Given the description of an element on the screen output the (x, y) to click on. 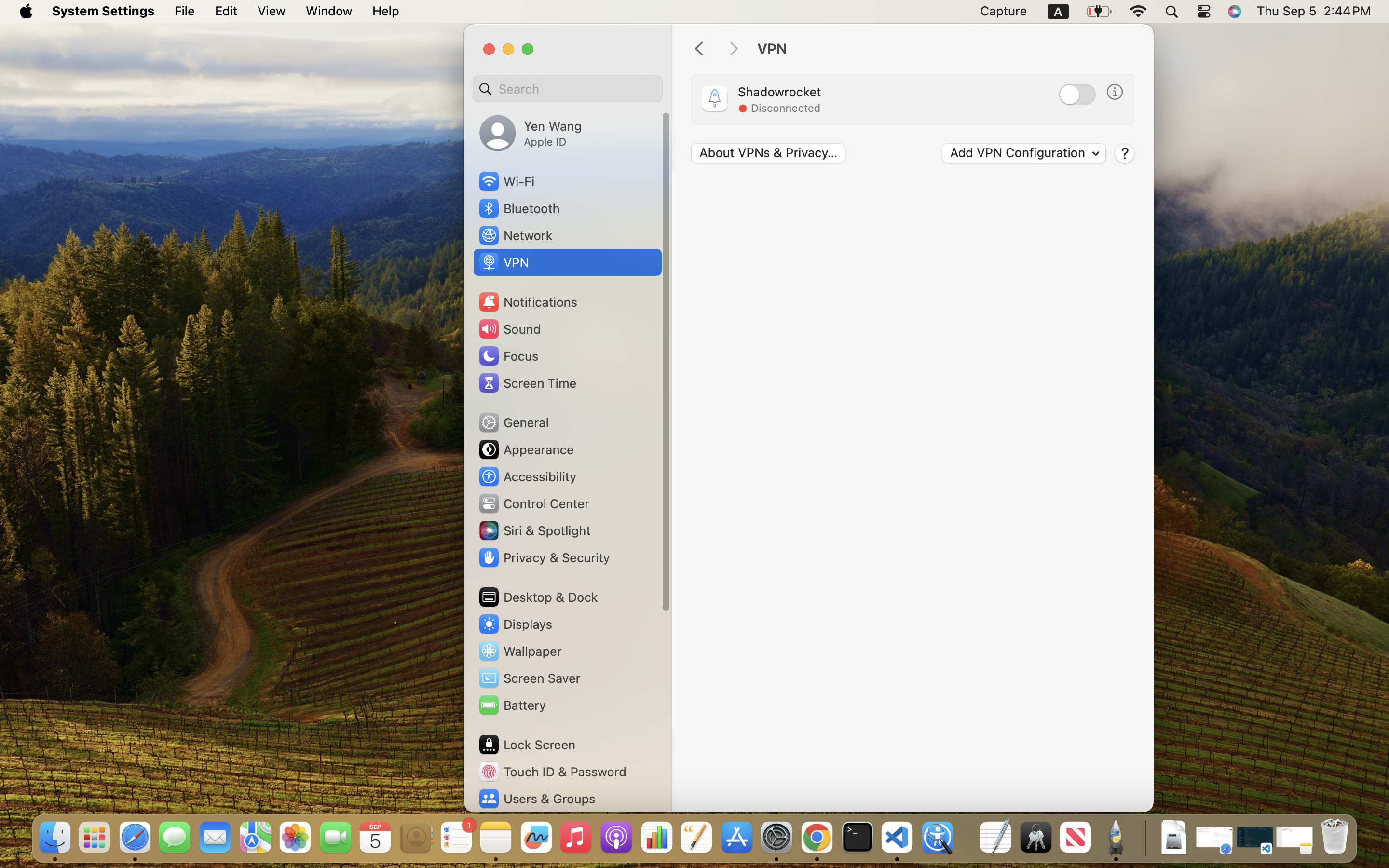
General Element type: AXStaticText (512, 422)
Privacy & Security Element type: AXStaticText (543, 557)
Sound Element type: AXStaticText (509, 328)
Wallpaper Element type: AXStaticText (519, 650)
